Given the description of an element on the screen output the (x, y) to click on. 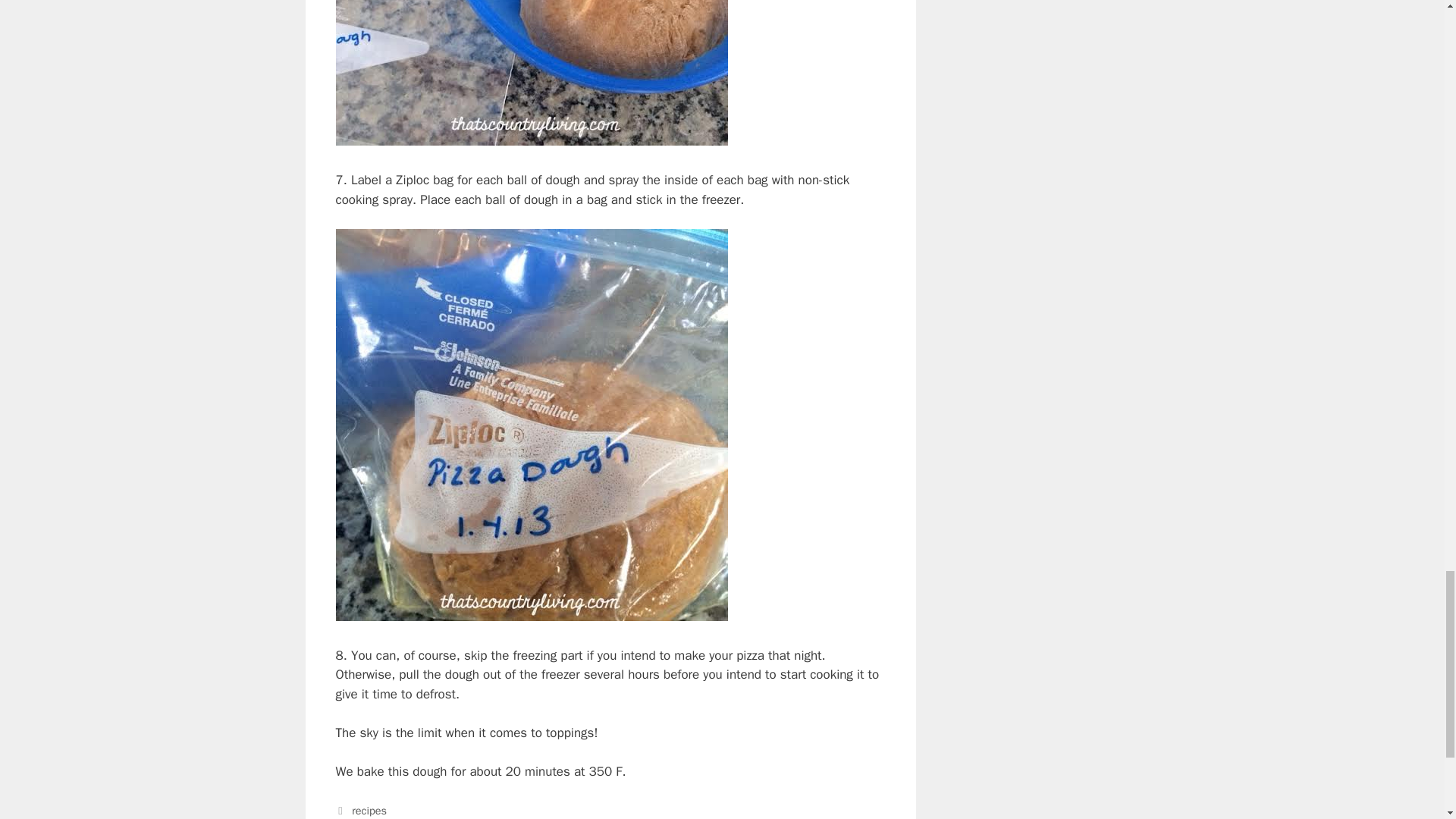
recipes (369, 810)
